Given the description of an element on the screen output the (x, y) to click on. 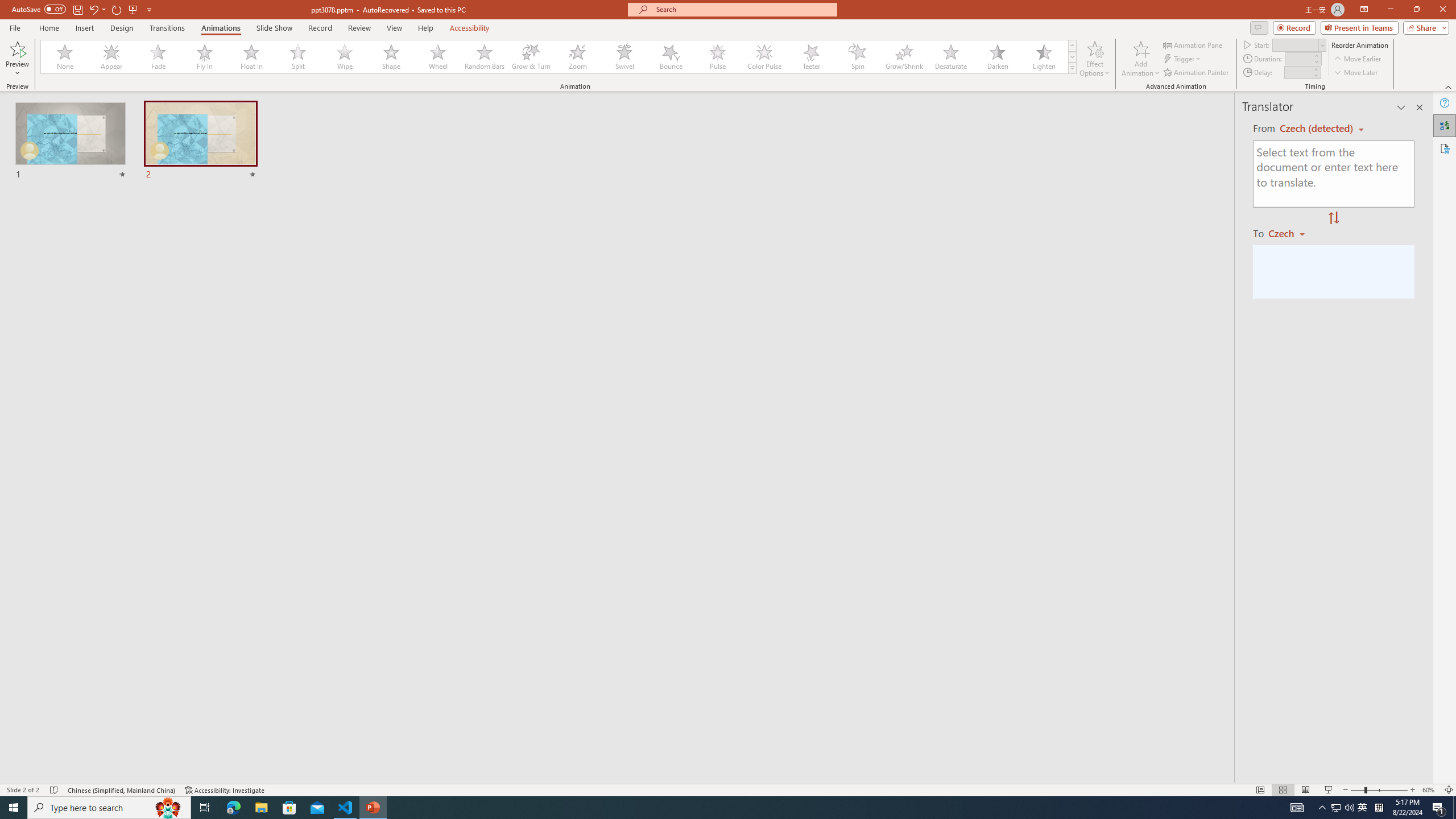
Wipe (344, 56)
Animation Pane (1193, 44)
Float In (251, 56)
Darken (997, 56)
Bounce (670, 56)
